Given the description of an element on the screen output the (x, y) to click on. 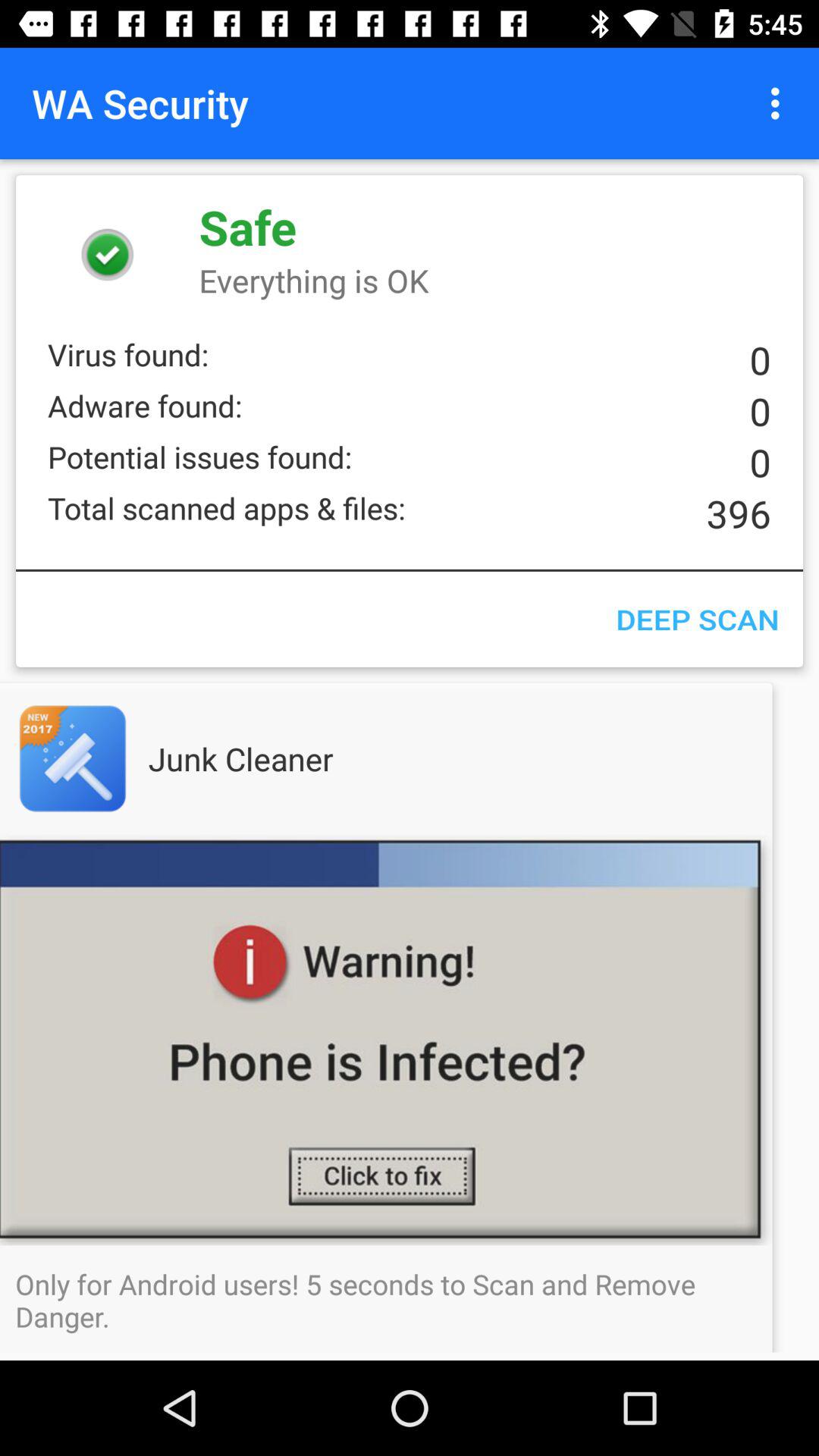
open the icon next to junk cleaner (103, 758)
